Given the description of an element on the screen output the (x, y) to click on. 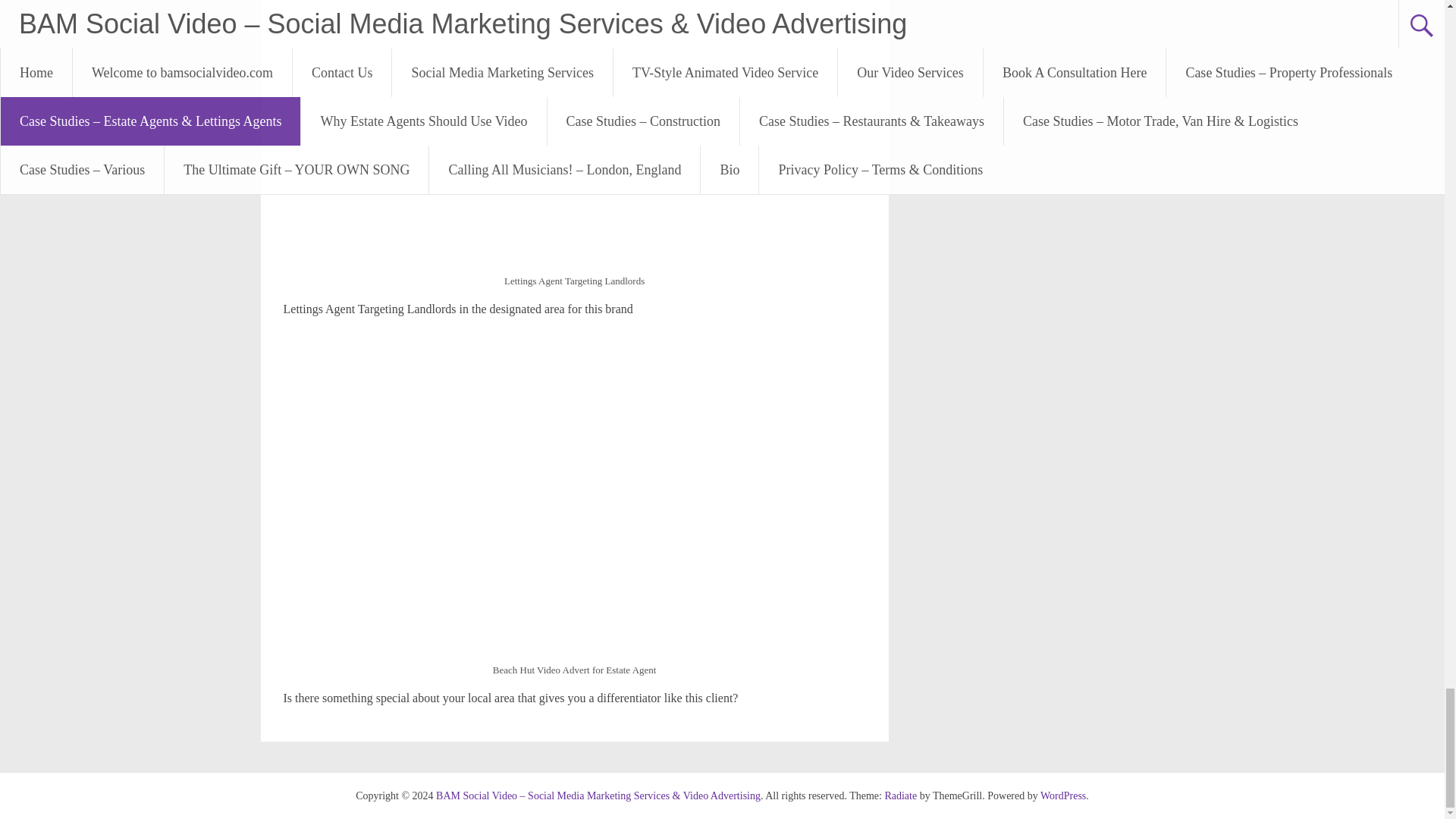
Radiate (900, 795)
WordPress (1063, 795)
WordPress (1063, 795)
Radiate (900, 795)
